Given the description of an element on the screen output the (x, y) to click on. 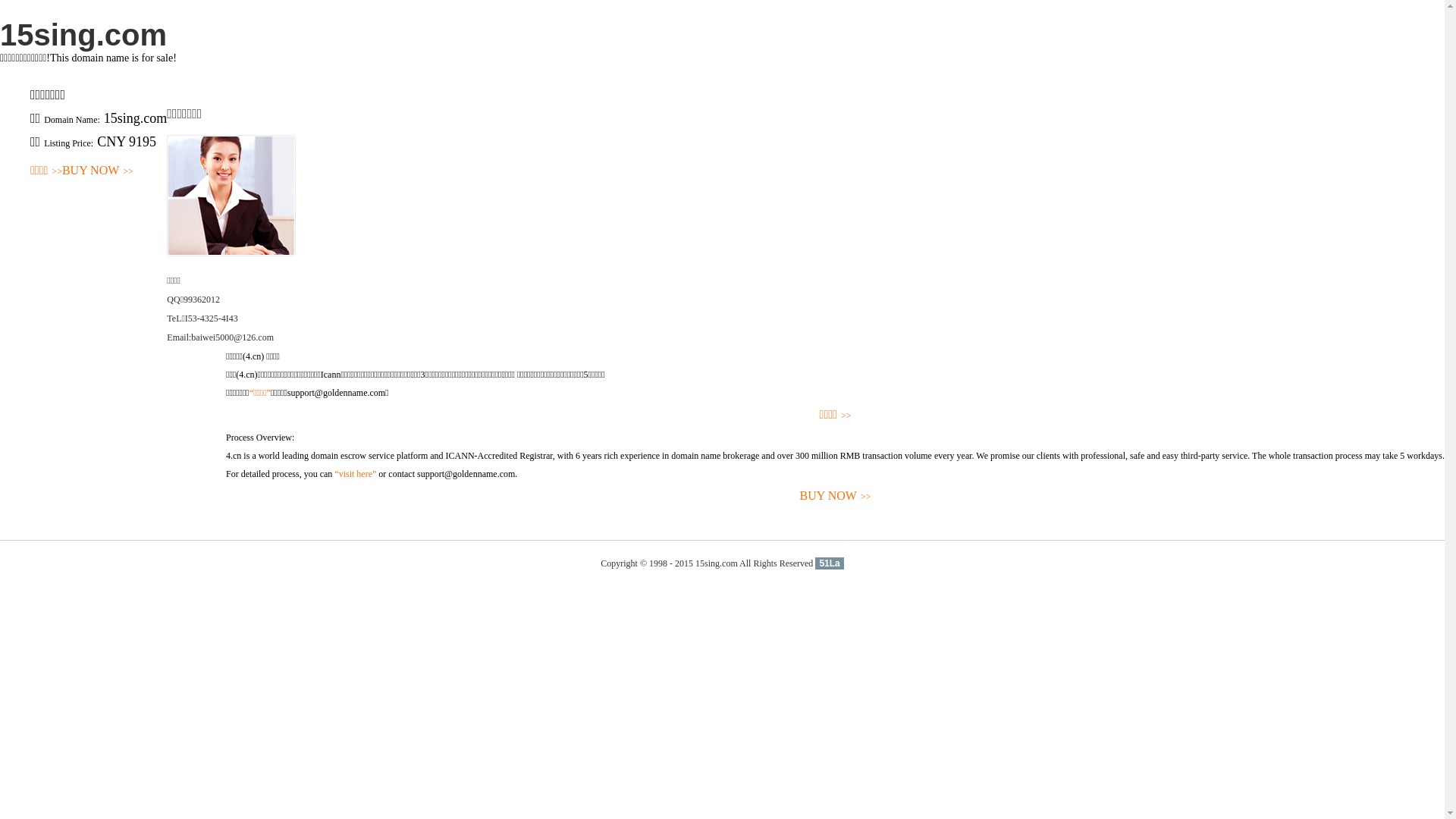
51La Element type: text (829, 563)
BUY NOW>> Element type: text (97, 170)
BUY NOW>> Element type: text (834, 496)
